Given the description of an element on the screen output the (x, y) to click on. 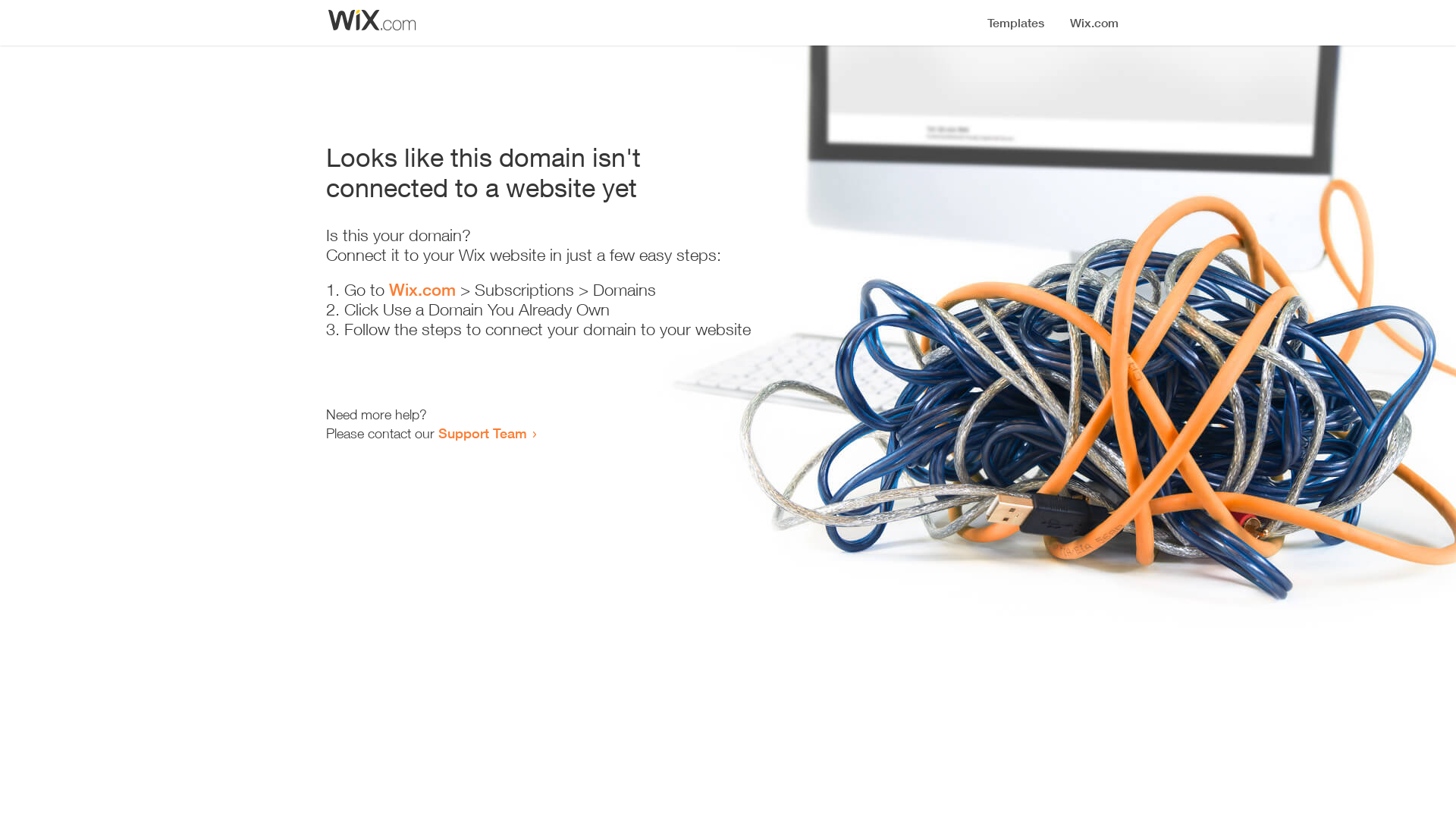
Support Team Element type: text (482, 432)
Wix.com Element type: text (422, 289)
